Given the description of an element on the screen output the (x, y) to click on. 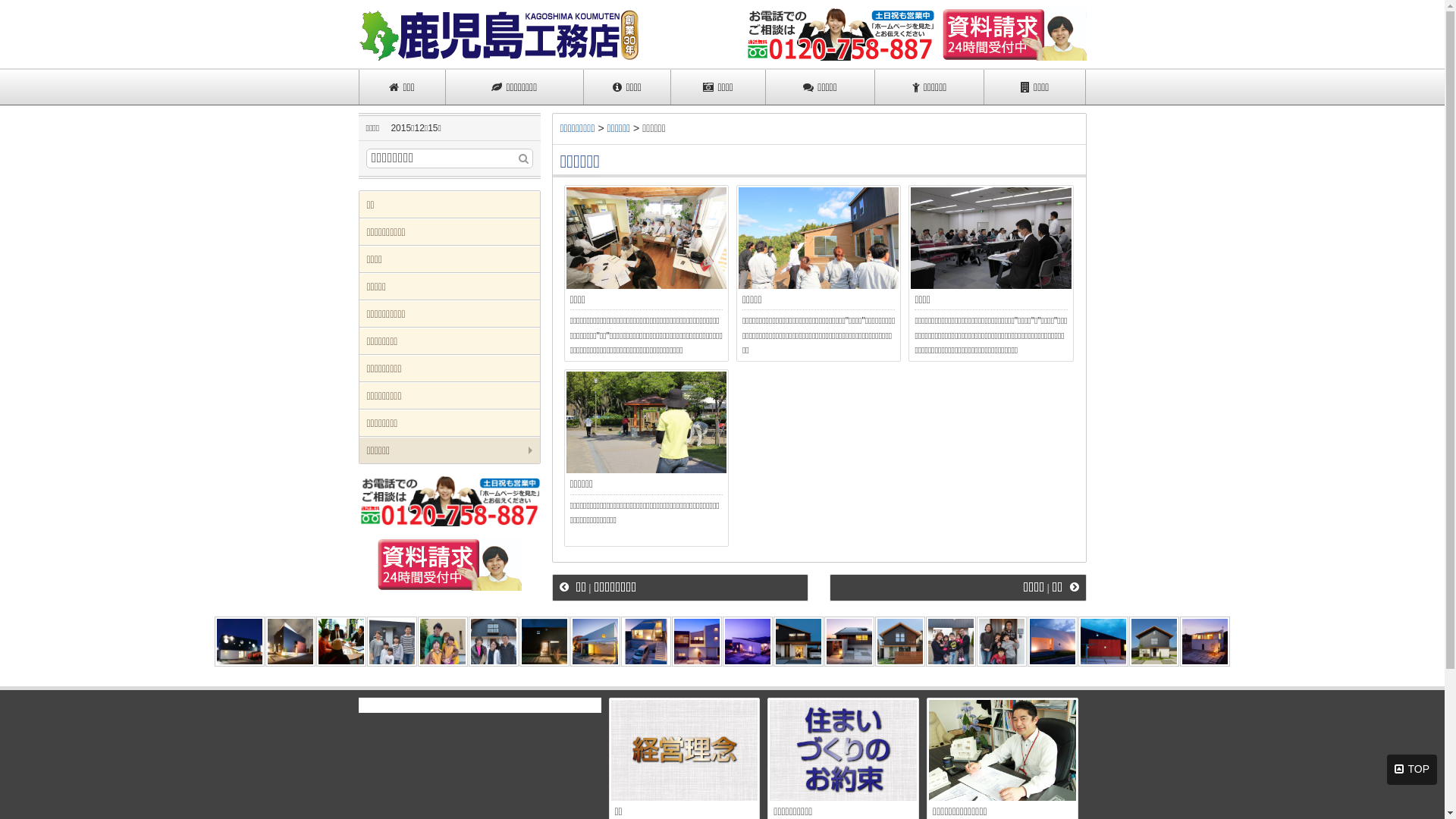
TOP Element type: text (1411, 769)
TEL Element type: hover (448, 500)
